Given the description of an element on the screen output the (x, y) to click on. 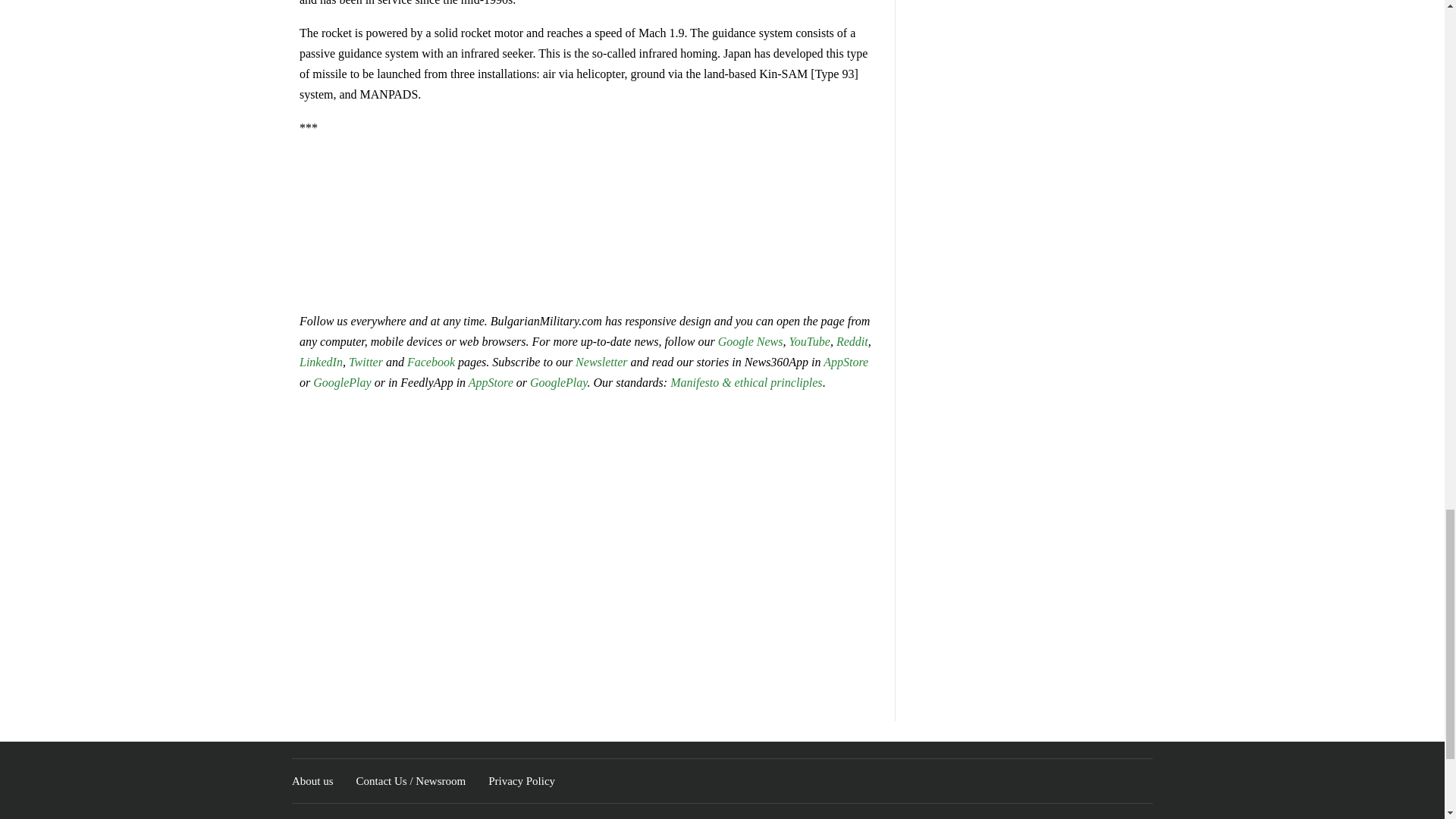
LinkedIn (320, 361)
Twitter (367, 361)
YouTube (809, 341)
Facebook (430, 361)
Newsletter (601, 361)
AppStore (845, 361)
Advertisement (587, 222)
Reddit (851, 341)
Google News (750, 341)
